Given the description of an element on the screen output the (x, y) to click on. 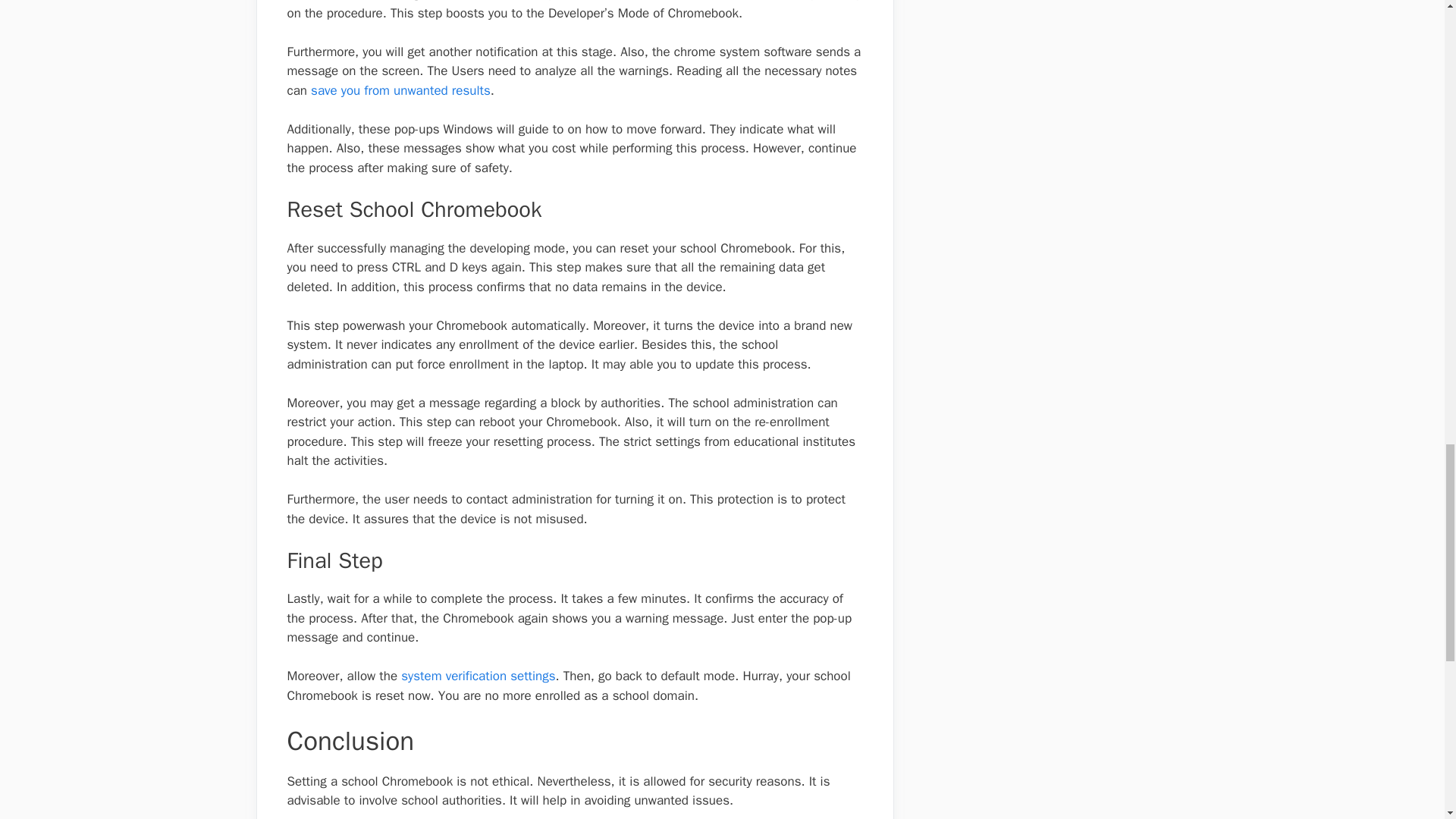
save you from unwanted results (400, 90)
system verification settings (477, 675)
